Given the description of an element on the screen output the (x, y) to click on. 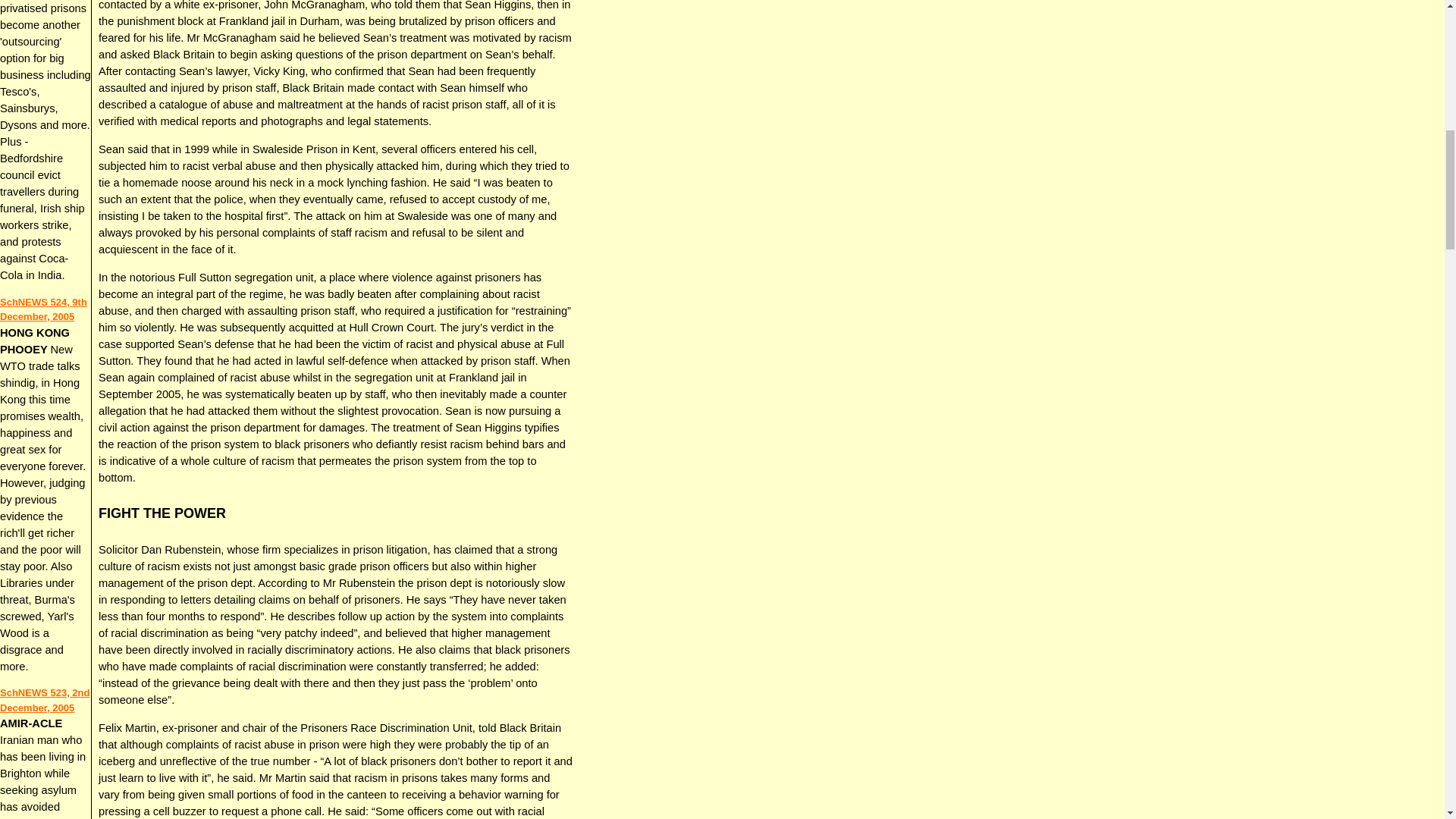
SchNEWS 524, 9th December, 2005 (43, 309)
SchNEWS 523, 2nd December, 2005 (44, 700)
